Given the description of an element on the screen output the (x, y) to click on. 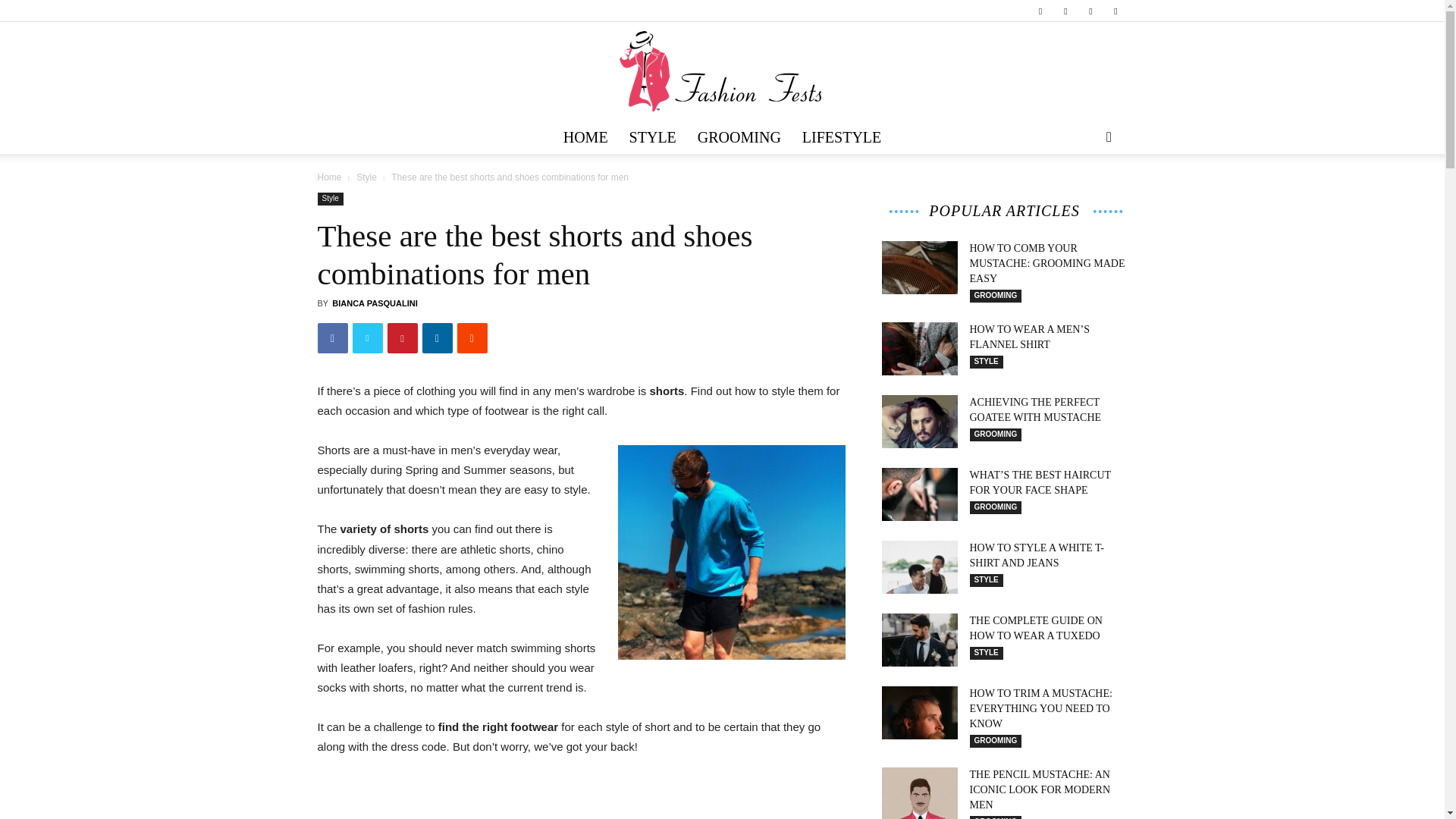
Style (329, 198)
Home (328, 176)
HOME (585, 136)
GROOMING (739, 136)
LIFESTYLE (841, 136)
Search (1085, 196)
BIANCA PASQUALINI (373, 302)
Linkedin (1065, 10)
Facebook (1040, 10)
View all posts in Style (366, 176)
Pinterest (1090, 10)
STYLE (652, 136)
Twitter (1114, 10)
Advertisement (580, 797)
Style (366, 176)
